Given the description of an element on the screen output the (x, y) to click on. 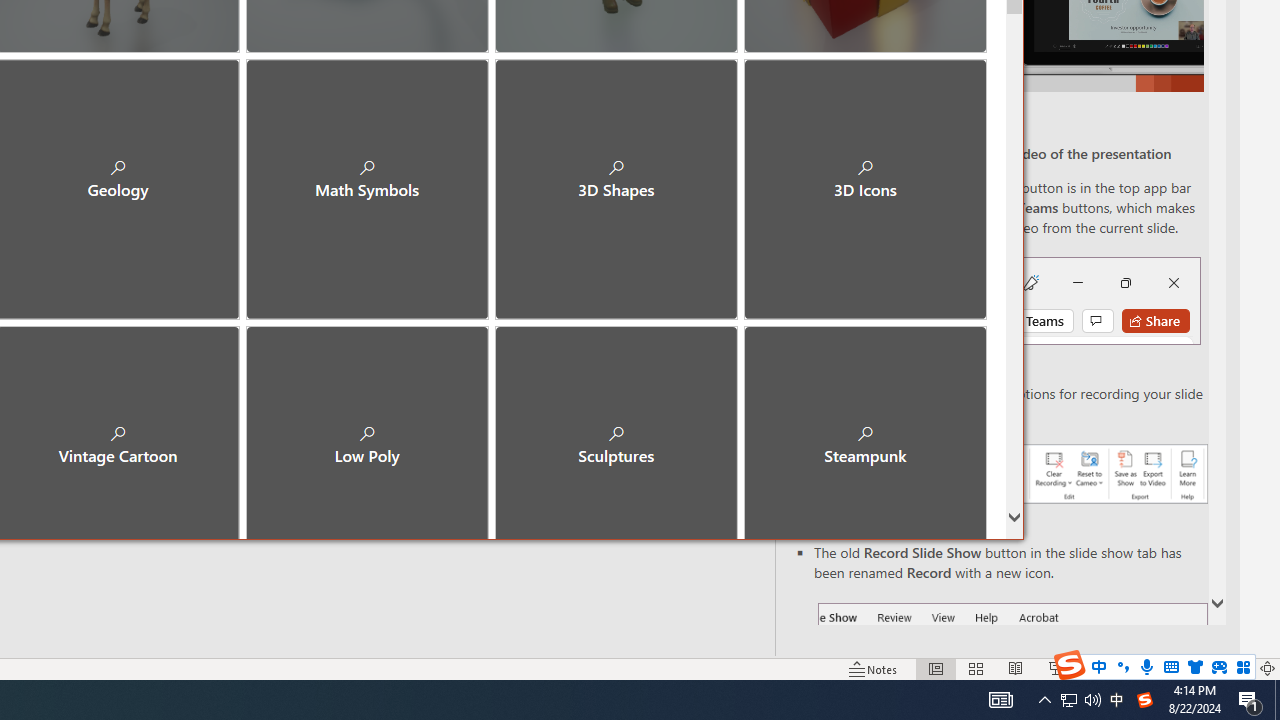
3D Icons (864, 179)
Low Poly (367, 429)
Steampunk (864, 429)
Action Center, 1 new notification (1250, 699)
Zoom 129% (1234, 668)
